Given the description of an element on the screen output the (x, y) to click on. 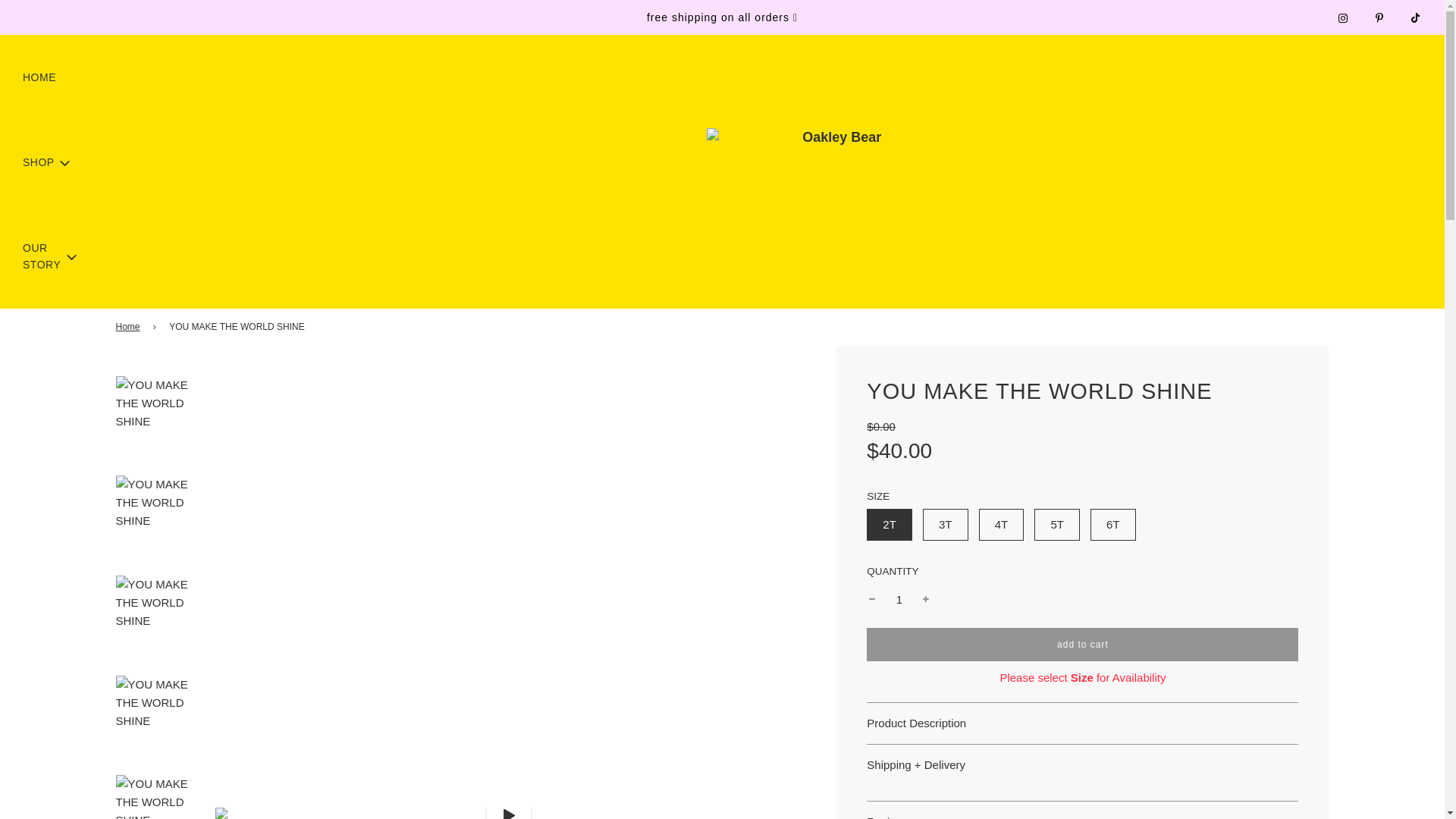
Back to the frontpage (129, 327)
1 (898, 599)
